Given the description of an element on the screen output the (x, y) to click on. 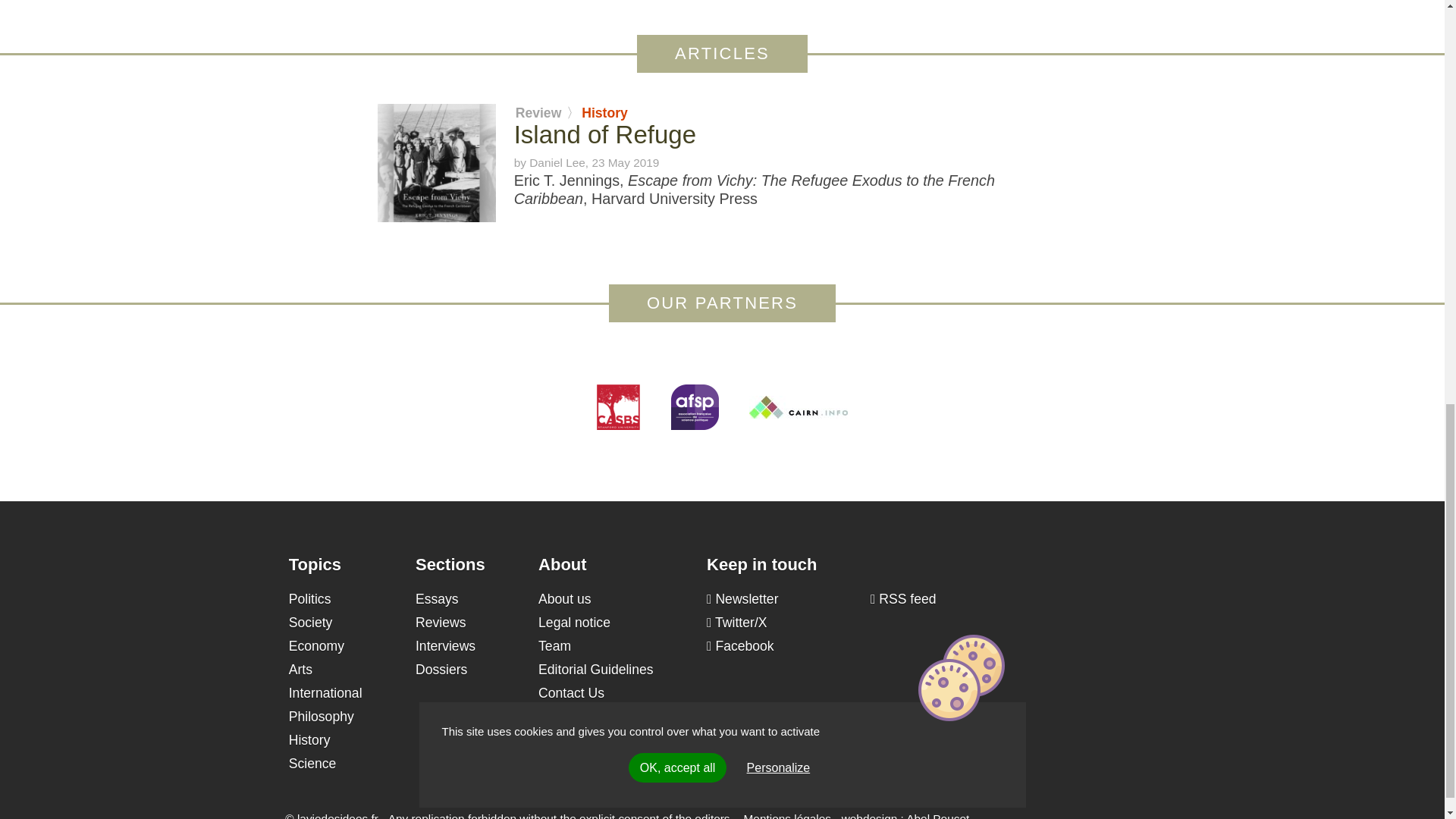
Daniel Lee (557, 162)
casbs  (618, 406)
Society (310, 622)
mentions legales (786, 815)
Island of Refuge (604, 134)
facebook (740, 645)
Cairn.info (798, 406)
Economy (315, 645)
Syndicate the whole site (903, 598)
